Given the description of an element on the screen output the (x, y) to click on. 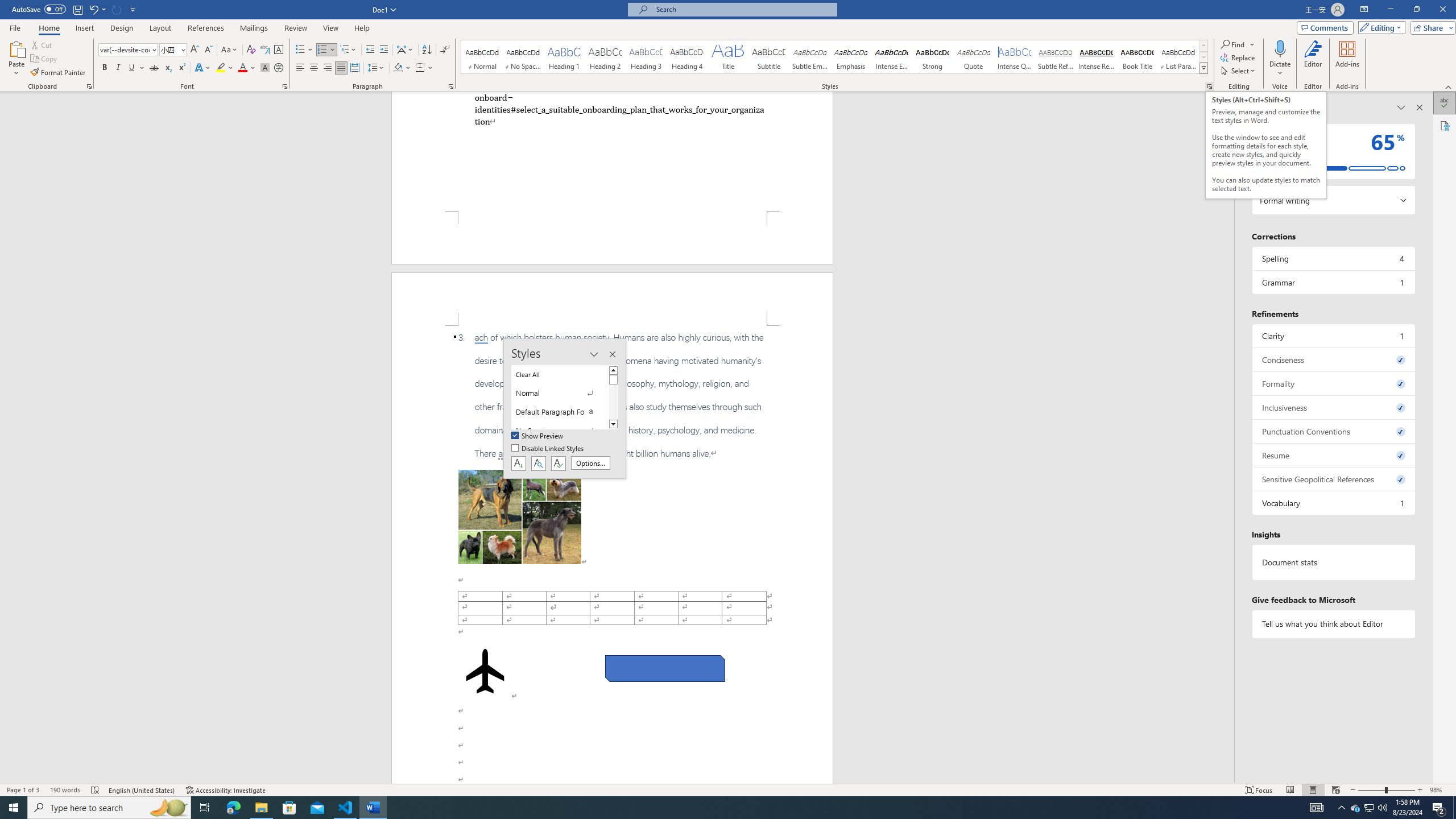
Intense Reference (1095, 56)
More Options (1280, 68)
Strong (932, 56)
Text Highlight Color (224, 67)
Insert (83, 28)
Increase Indent (383, 49)
Clear All (559, 374)
Subtitle (768, 56)
Intense Emphasis (891, 56)
Save (77, 9)
Accessibility Checker Accessibility: Investigate (226, 790)
Layout (160, 28)
Can't Repeat (117, 9)
Heading 4 (686, 56)
